Given the description of an element on the screen output the (x, y) to click on. 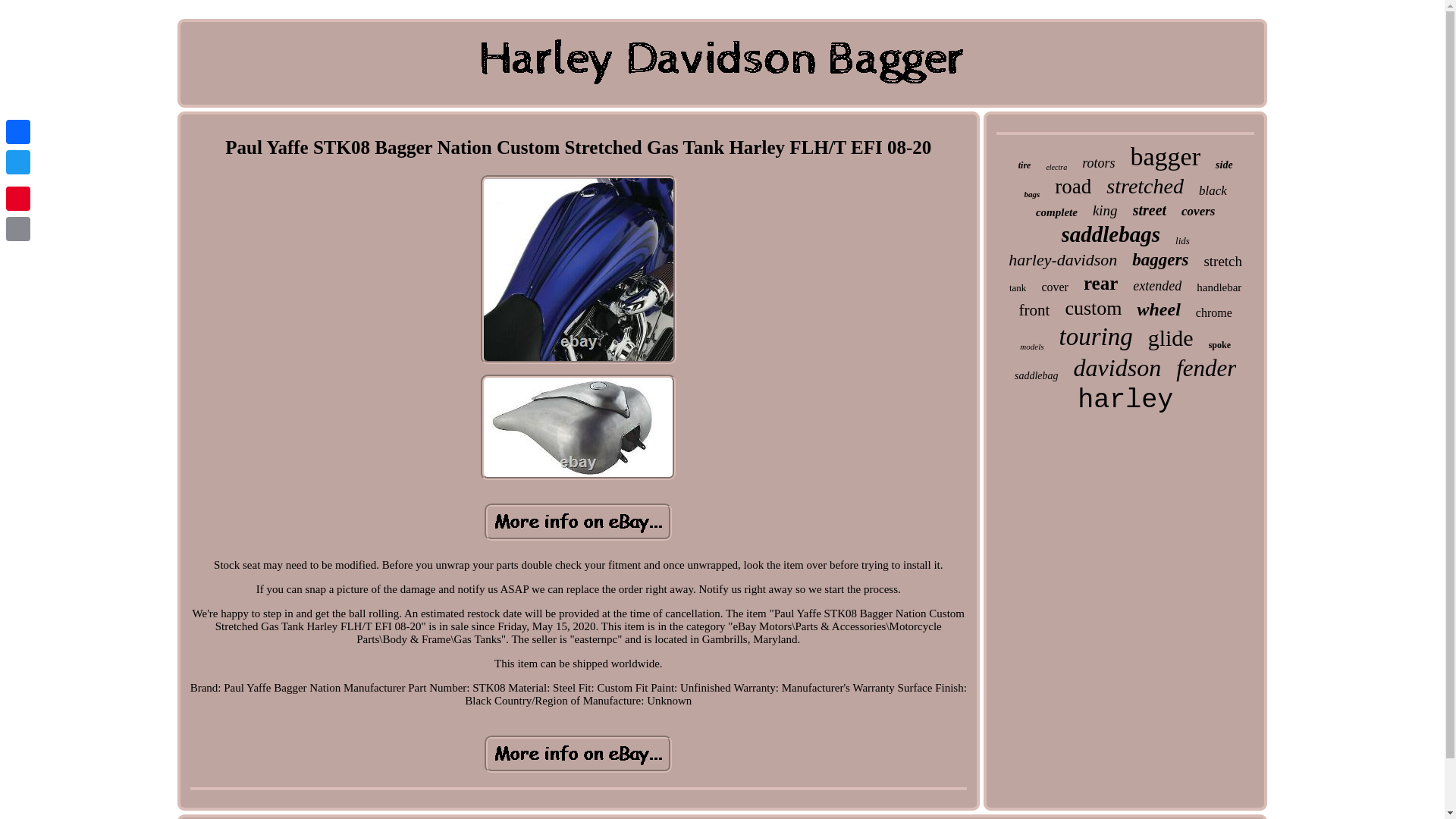
Email (17, 228)
Twitter (17, 162)
street (1149, 210)
electra (1056, 166)
rotors (1098, 163)
models (1031, 346)
wheel (1158, 309)
Pinterest (17, 198)
stretch (1222, 261)
custom (1092, 308)
